Given the description of an element on the screen output the (x, y) to click on. 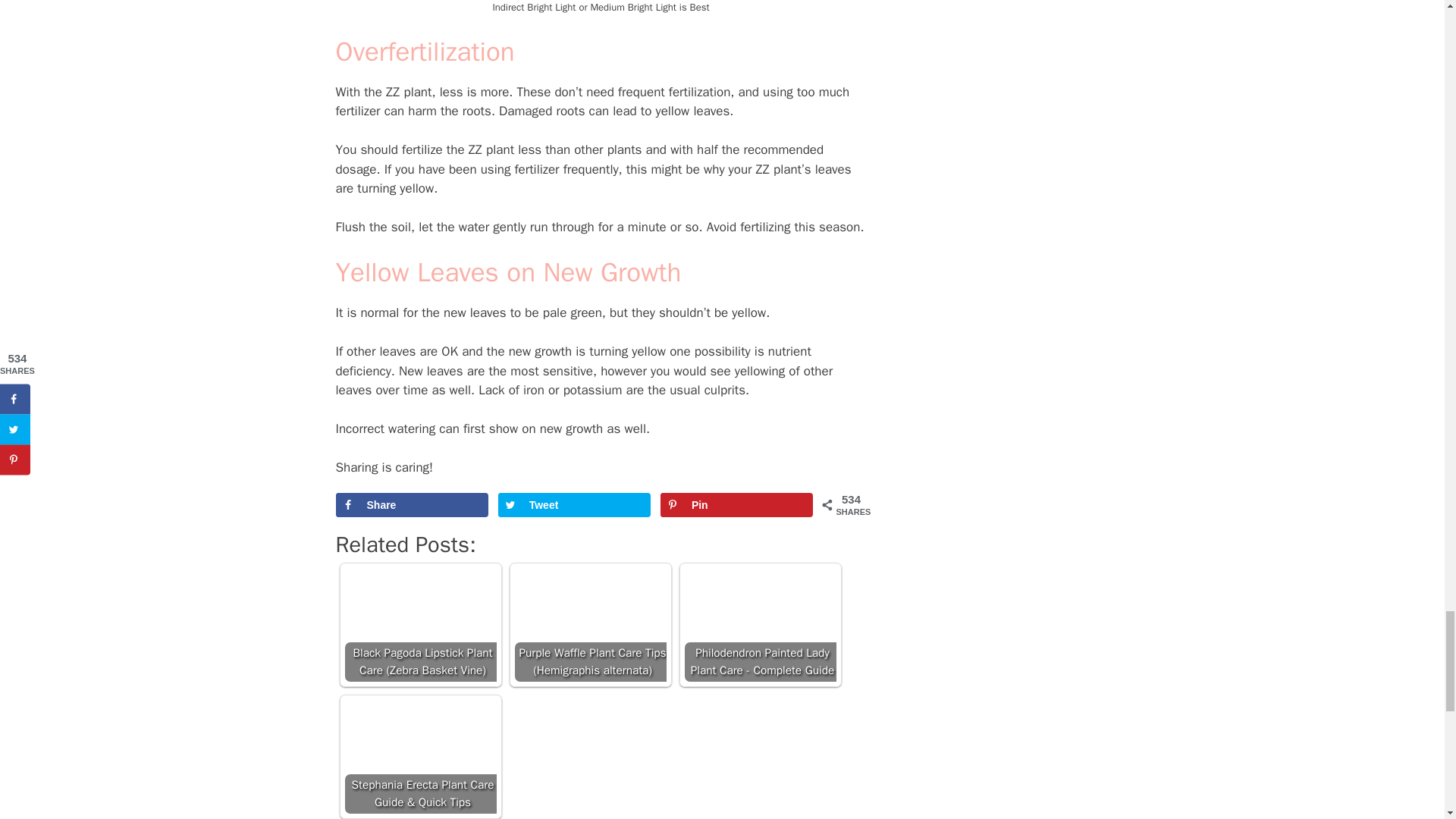
Philodendron Painted Lady Plant Care - Complete Guide (759, 624)
Tweet (573, 504)
Share (410, 504)
Share on Twitter (573, 504)
Pin (737, 504)
Share on Facebook (410, 504)
Save to Pinterest (737, 504)
